Given the description of an element on the screen output the (x, y) to click on. 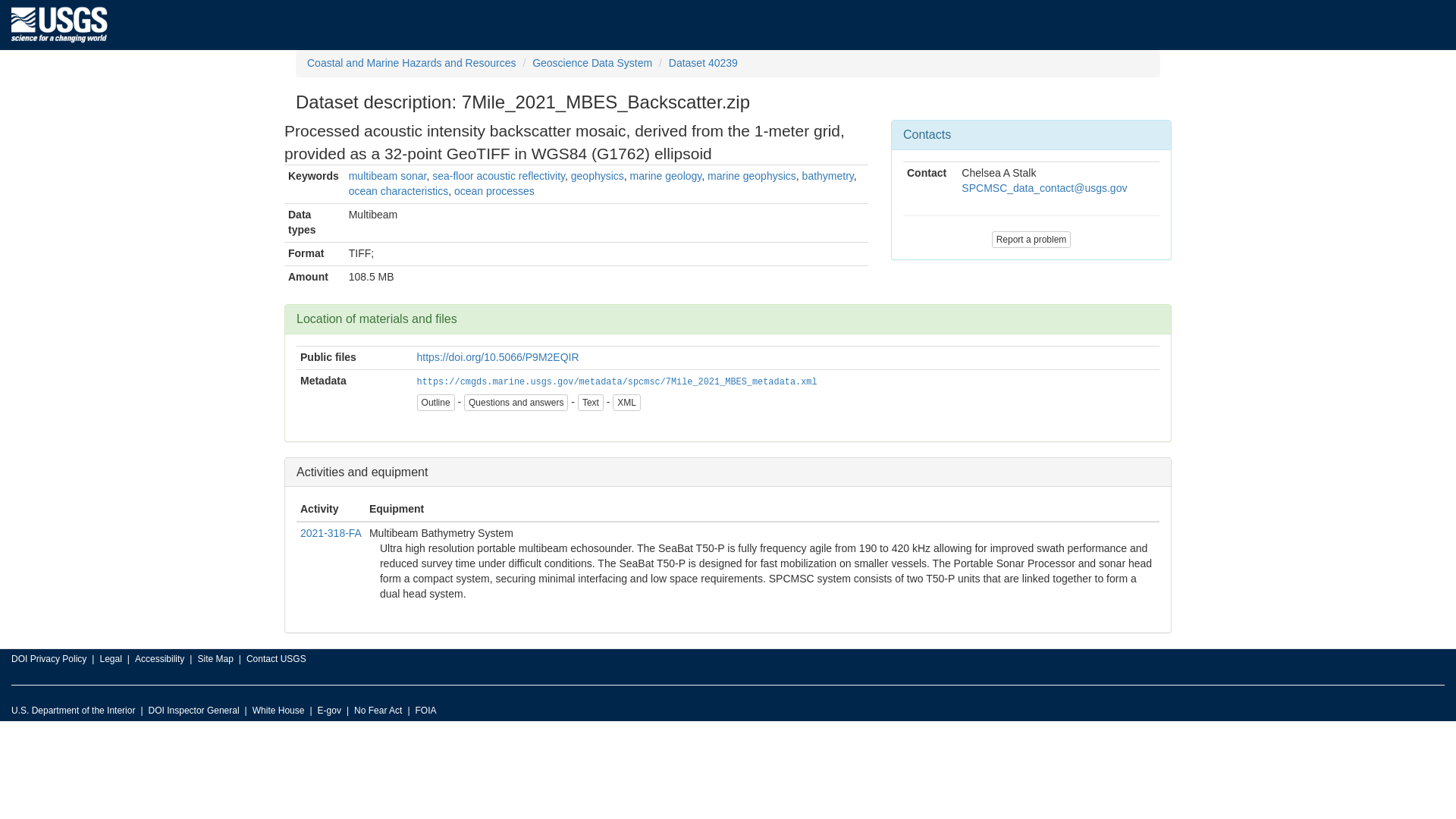
Outline (435, 402)
Accessibility (159, 659)
Site Map (214, 659)
geophysics (597, 175)
Text (591, 402)
Compass data types (314, 222)
Coastal and Marine Hazards and Resources (411, 62)
DOI Privacy Policy (48, 659)
Metadata as outline (626, 402)
